Given the description of an element on the screen output the (x, y) to click on. 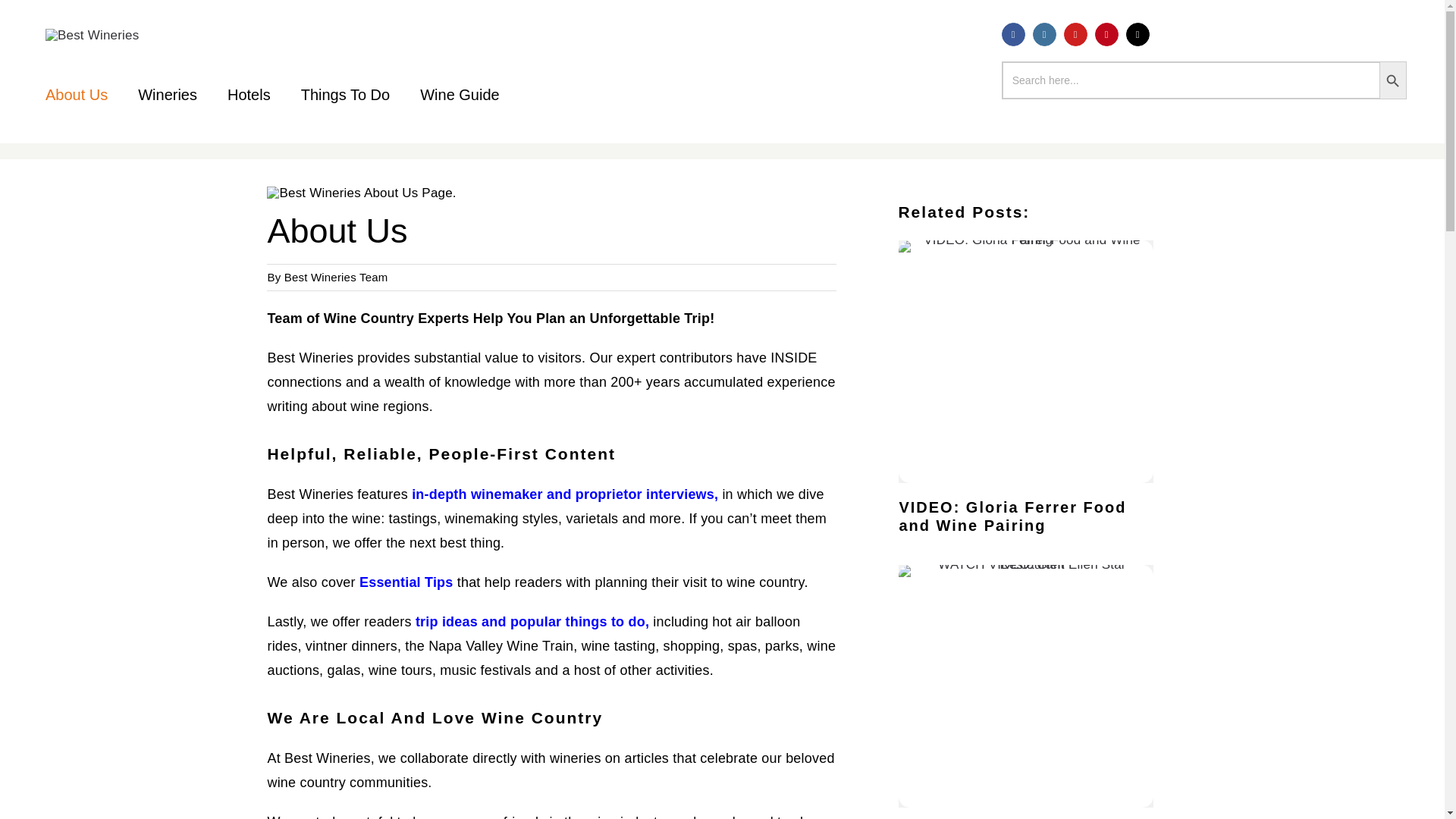
Wine Guide (459, 94)
Instagram (1044, 33)
Facebook (1013, 33)
trip ideas and popular things to do, (531, 621)
Best-Wineries-Website-About-Us-Page (360, 192)
YouTube (1075, 33)
Things To Do (345, 94)
About Us (76, 94)
Essential Tips (405, 581)
in-depth winemaker and proprietor interviews, (564, 494)
